Given the description of an element on the screen output the (x, y) to click on. 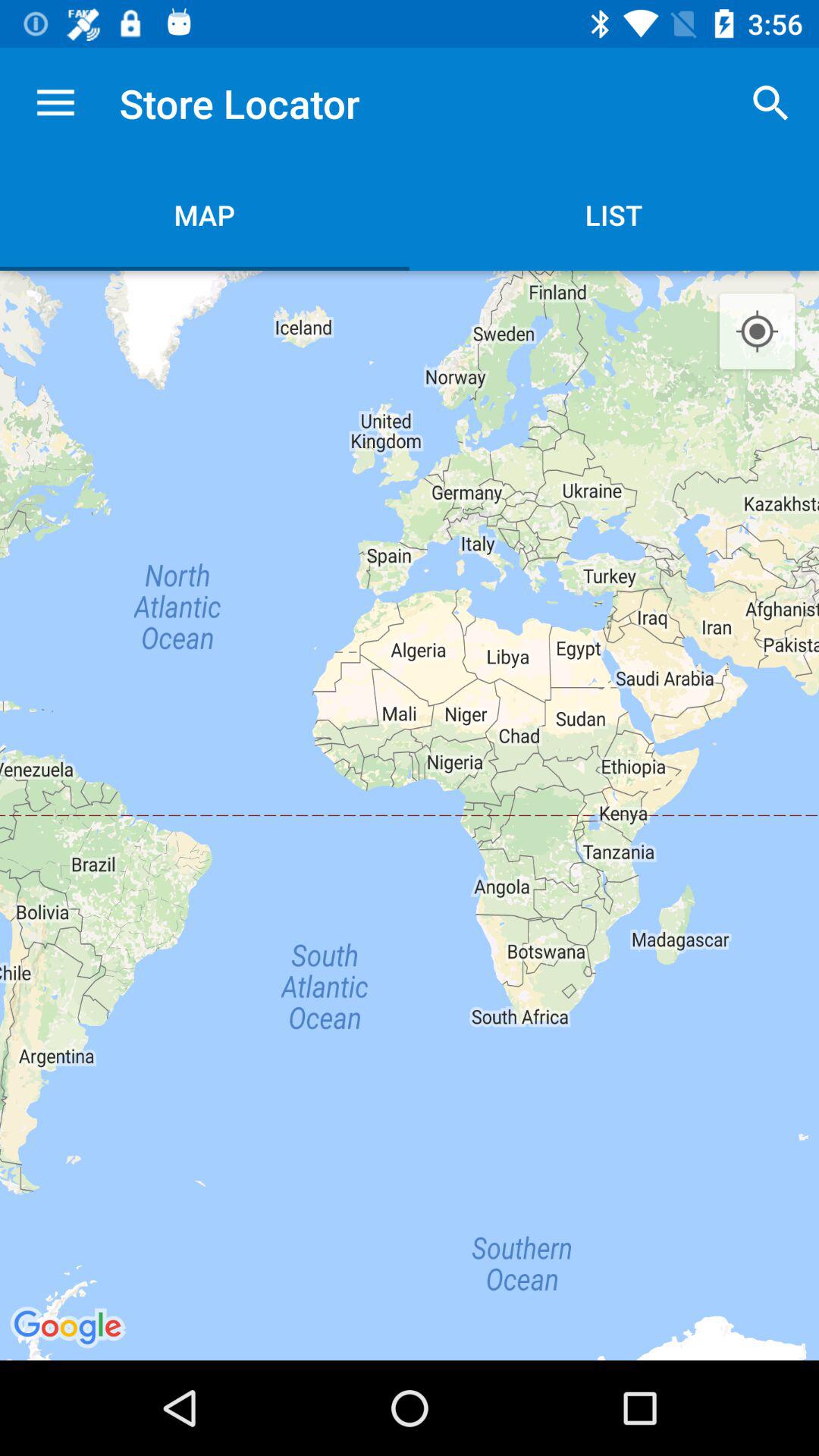
open the item next to store locator item (55, 103)
